Given the description of an element on the screen output the (x, y) to click on. 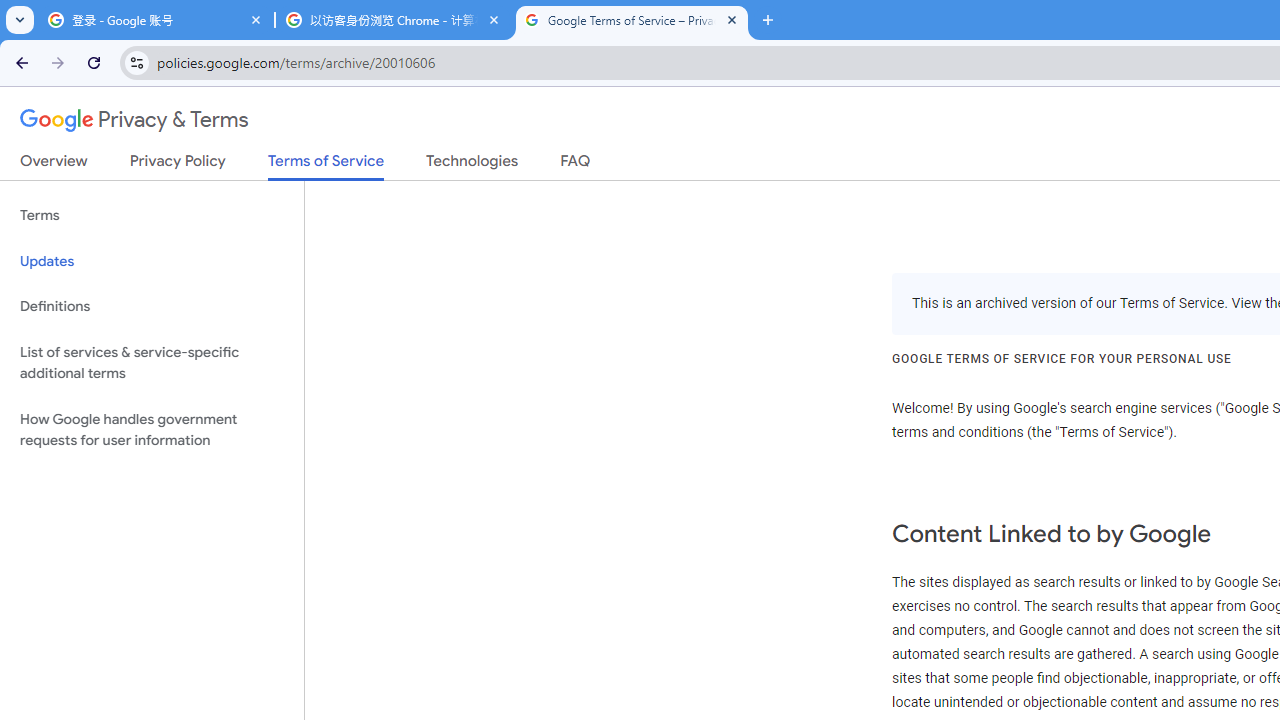
Definitions (152, 306)
How Google handles government requests for user information (152, 429)
